Given the description of an element on the screen output the (x, y) to click on. 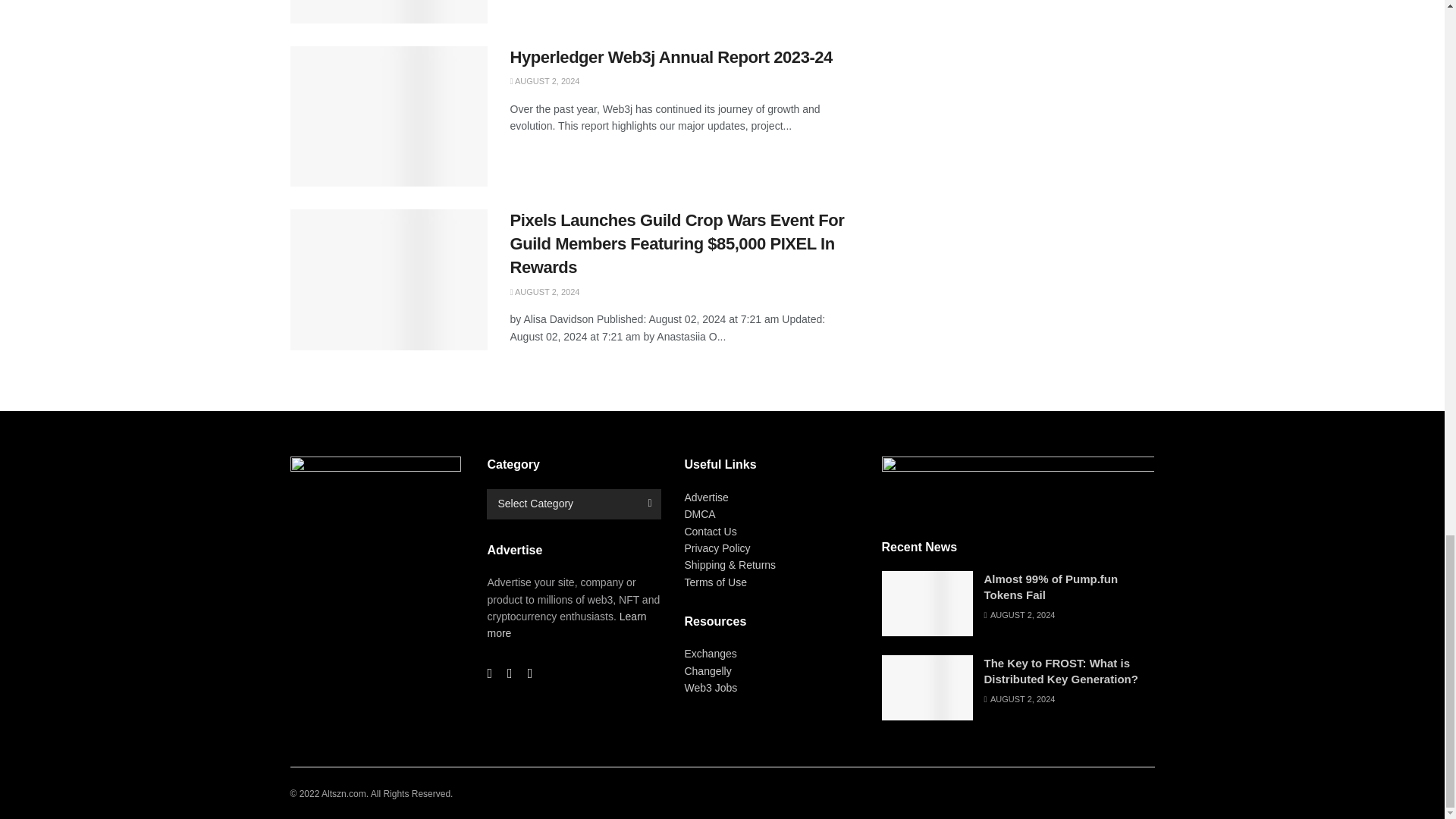
altszn-logo-cropped (1017, 491)
